Given the description of an element on the screen output the (x, y) to click on. 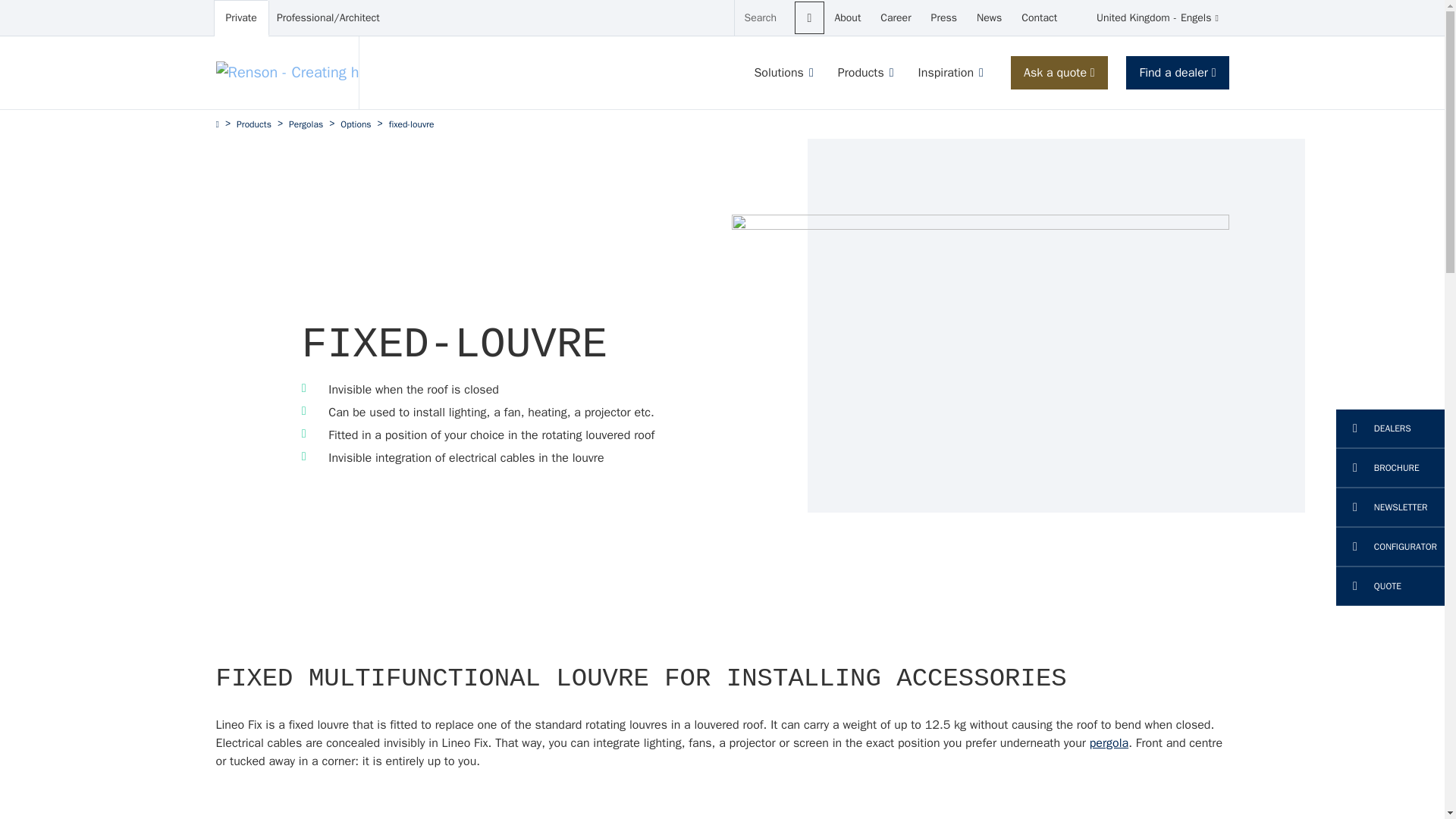
About (847, 17)
Press (943, 17)
About (1147, 17)
Career (847, 17)
Private (895, 17)
Search (240, 17)
Press (809, 17)
News (943, 17)
Career (988, 17)
